Given the description of an element on the screen output the (x, y) to click on. 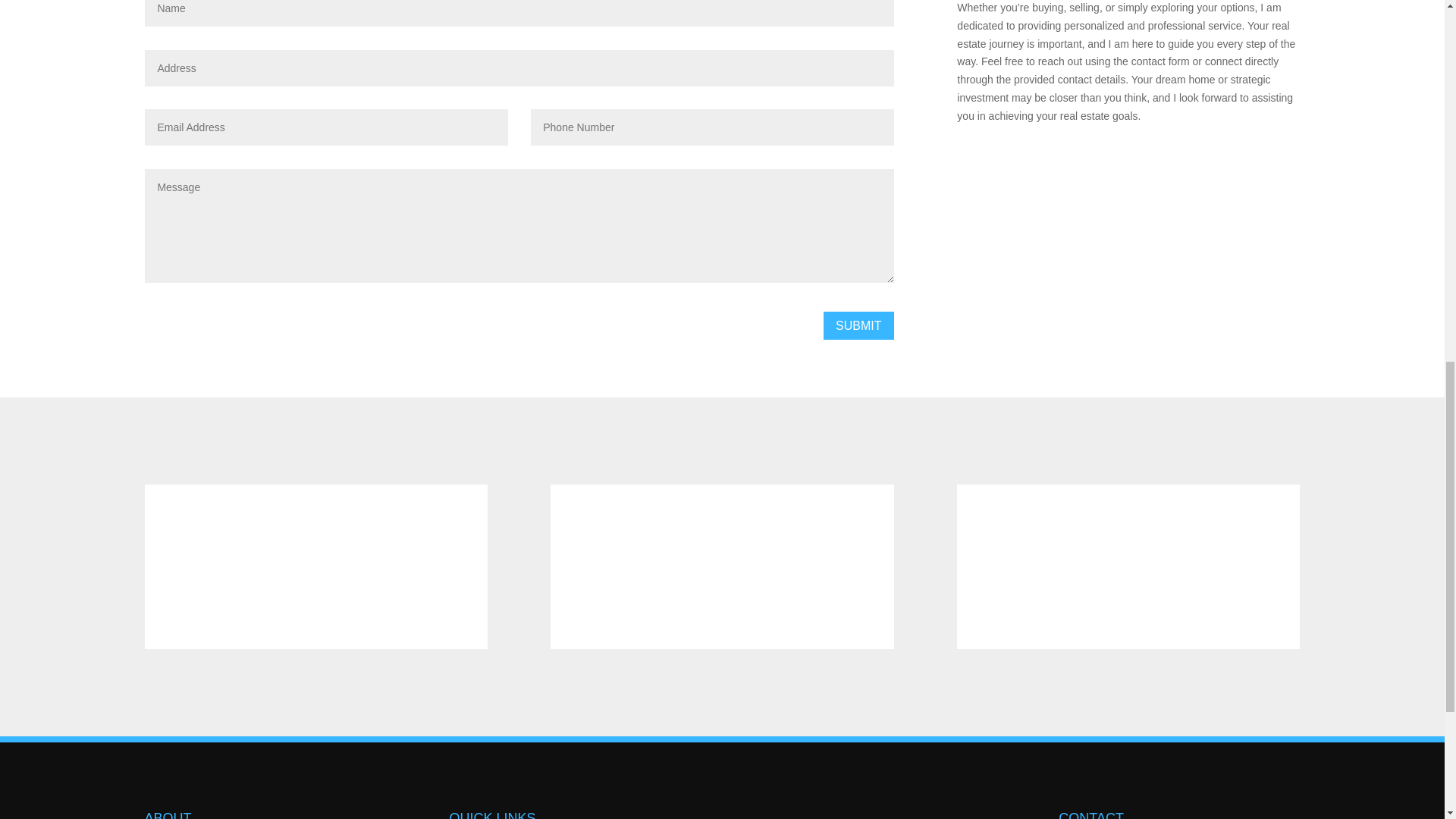
SUBMIT (858, 325)
